Given the description of an element on the screen output the (x, y) to click on. 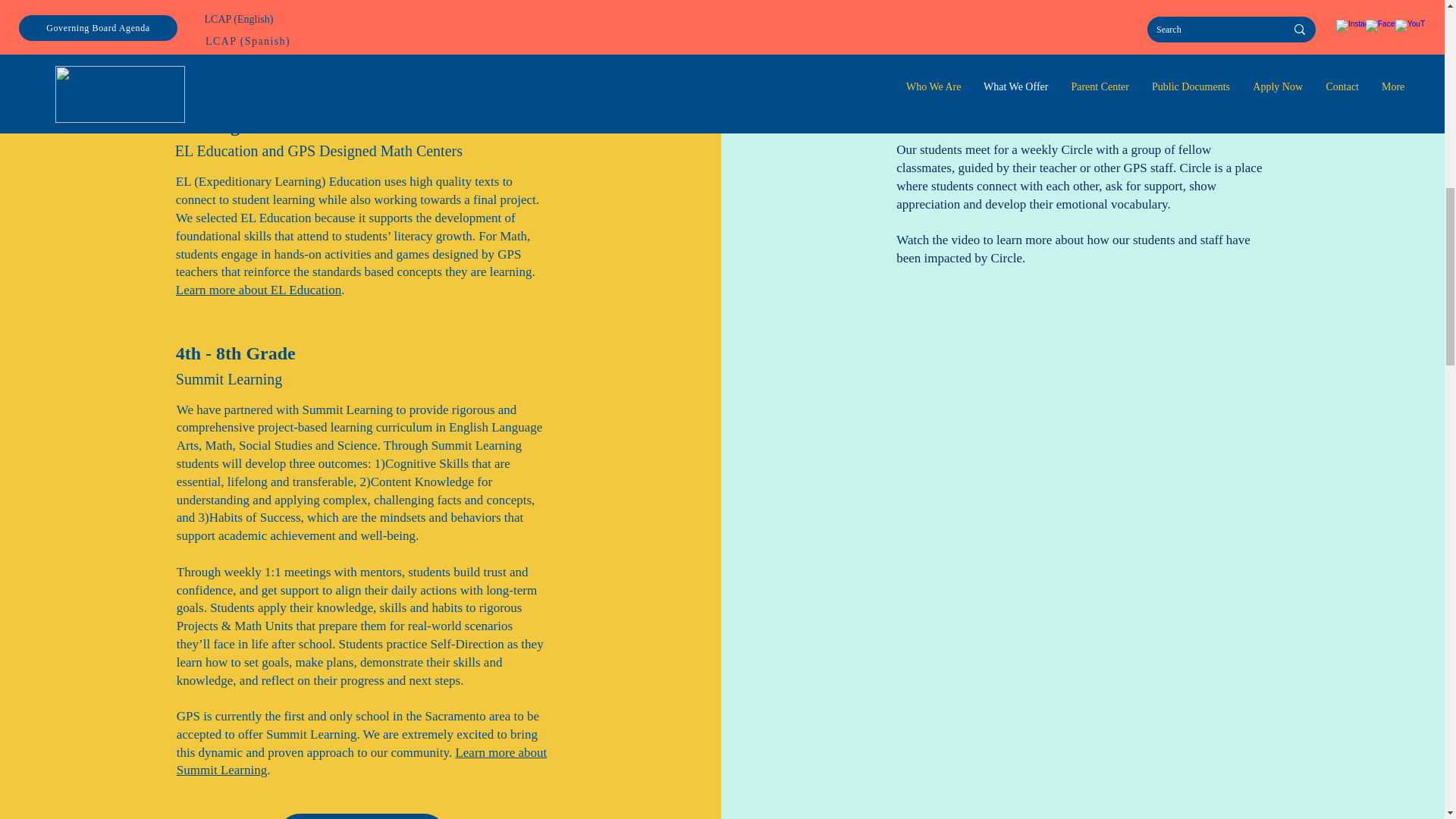
Learn more about Connect4Learning (351, 63)
Learn more about EL Education (258, 289)
